Given the description of an element on the screen output the (x, y) to click on. 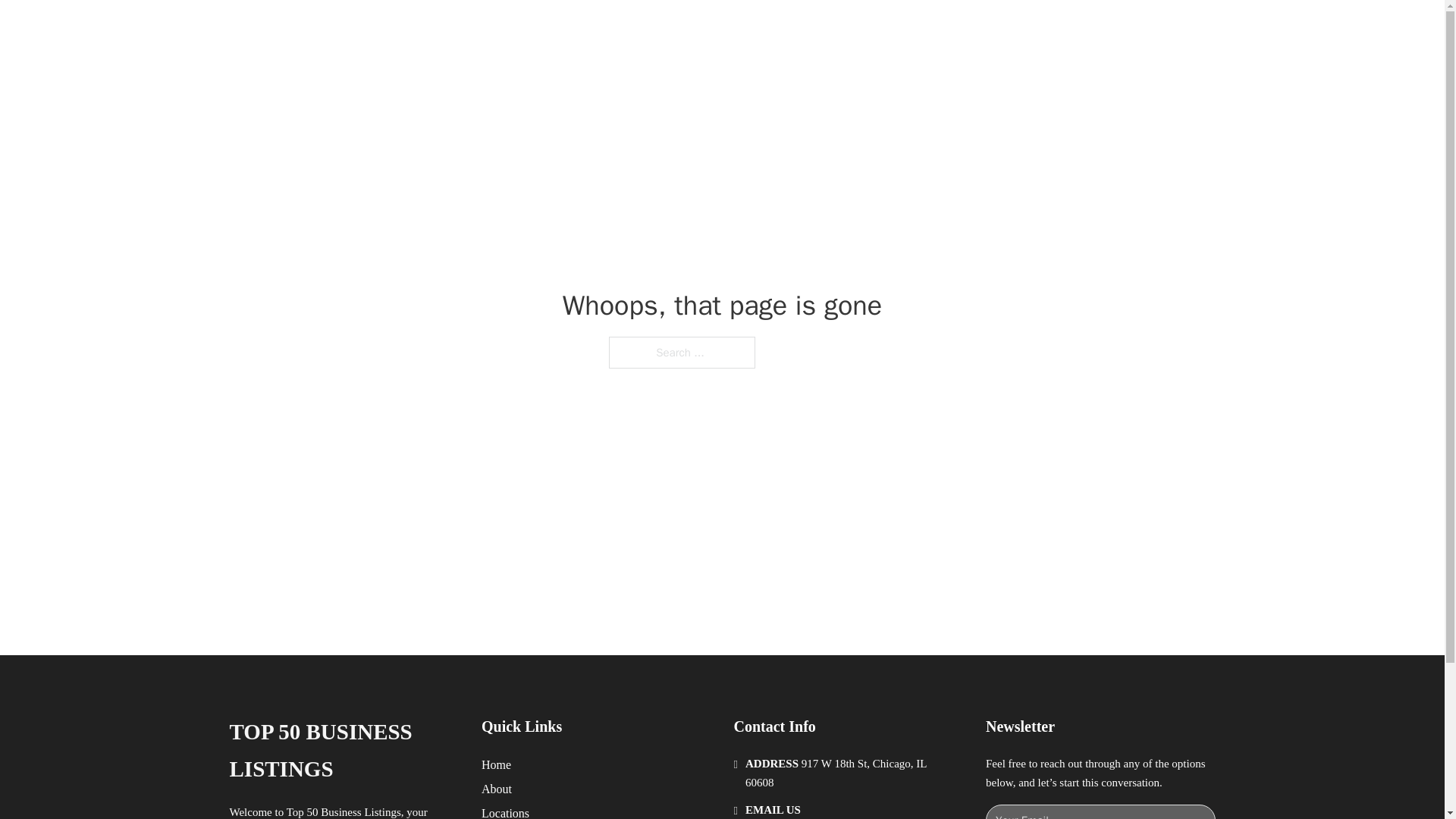
Locations (505, 811)
Home (496, 764)
About (496, 788)
TOP 50 BUSINESS LISTINGS (447, 28)
LOCATIONS (990, 29)
TOP 50 BUSINESS LISTINGS (343, 750)
HOME (919, 29)
